Given the description of an element on the screen output the (x, y) to click on. 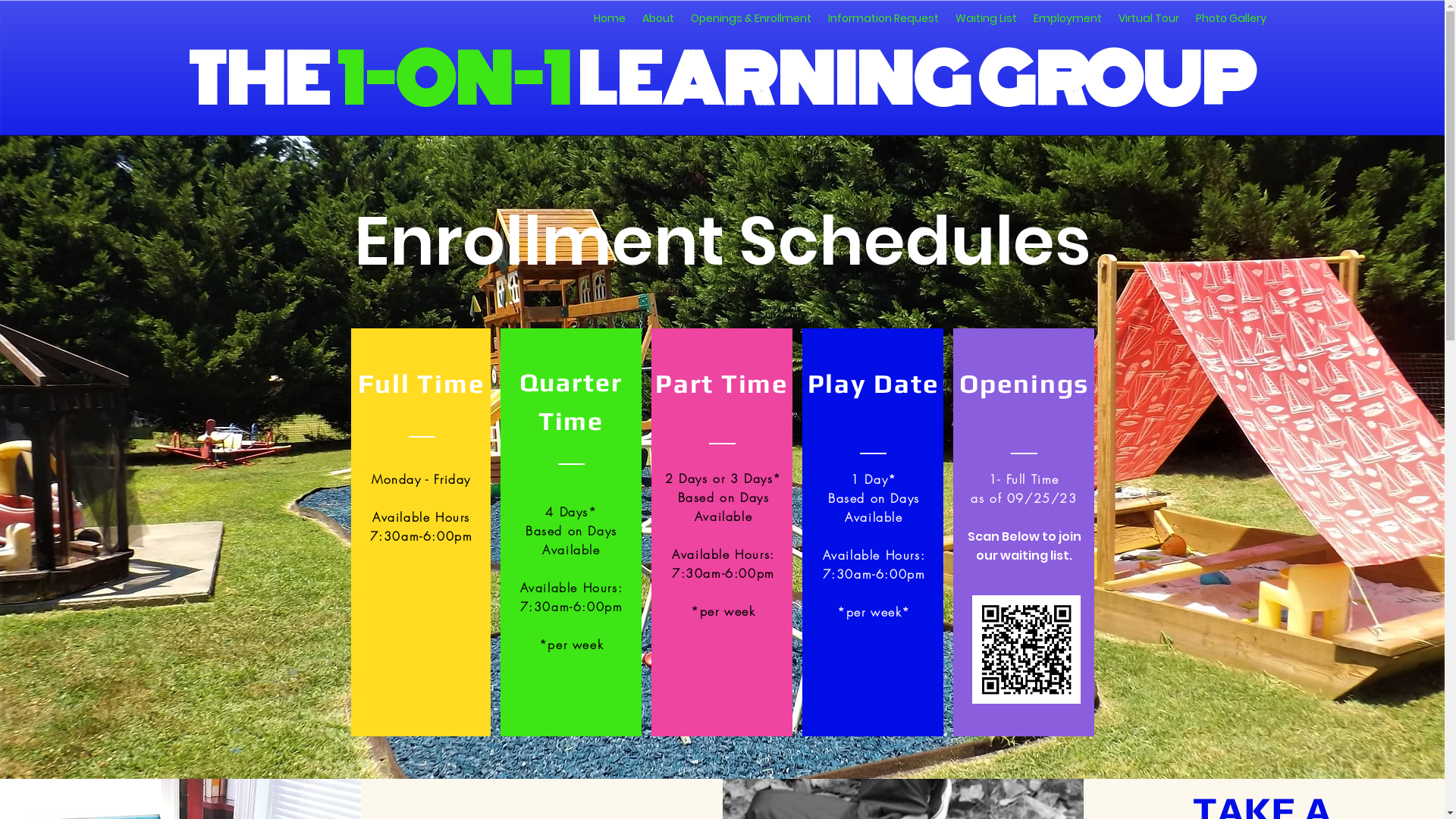
Photo Gallery Element type: text (1230, 18)
Virtual Tour Element type: text (1148, 18)
Employment Element type: text (1067, 18)
Openings & Enrollment Element type: text (750, 18)
About Element type: text (657, 18)
Information Request Element type: text (882, 18)
Home Element type: text (609, 18)
Waiting List Element type: text (985, 18)
